Given the description of an element on the screen output the (x, y) to click on. 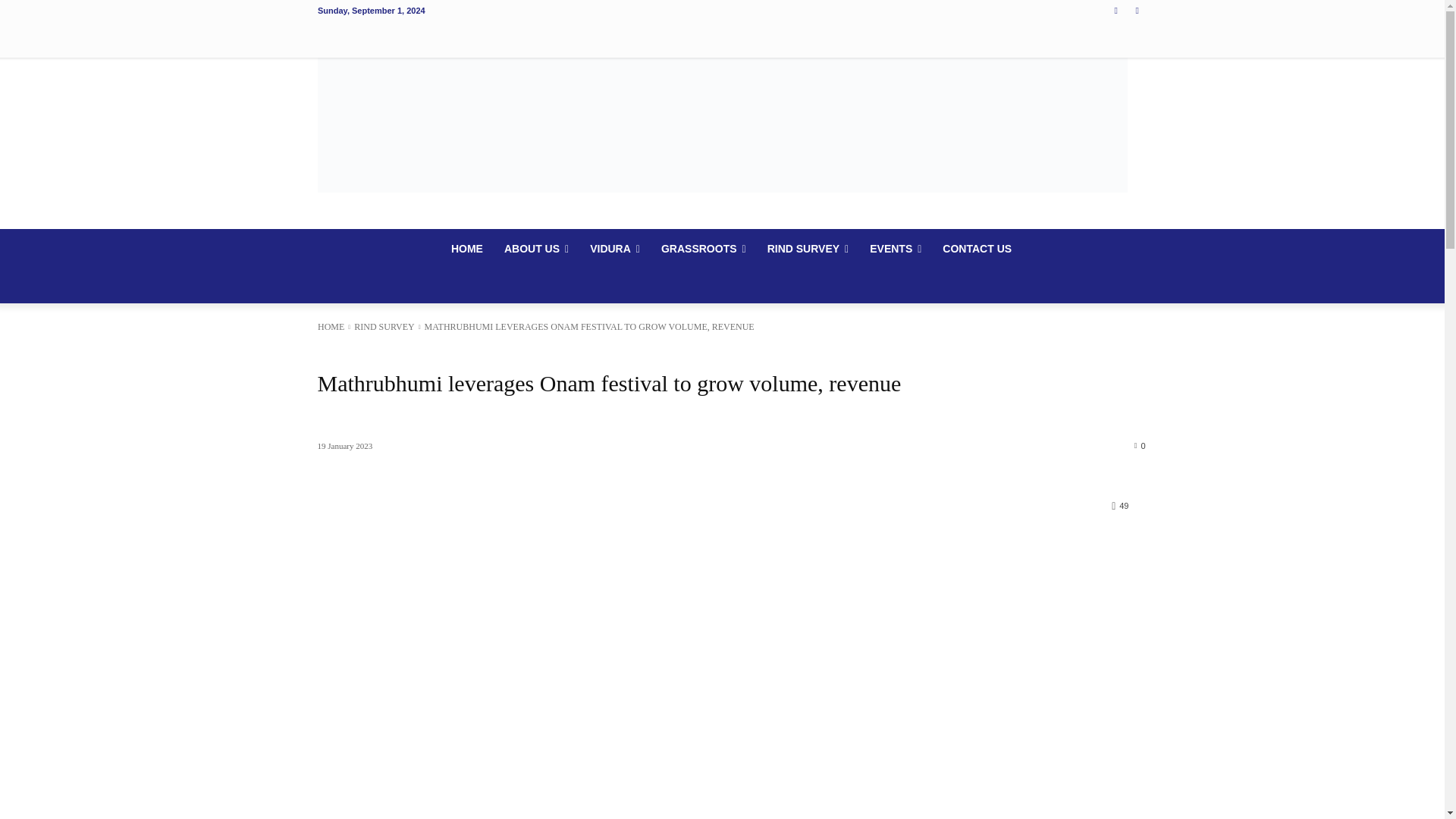
HOME (467, 248)
Facebook (1115, 9)
GRASSROOTS (703, 248)
Youtube (1136, 9)
ABOUT US (536, 248)
VIDURA (614, 248)
